Given the description of an element on the screen output the (x, y) to click on. 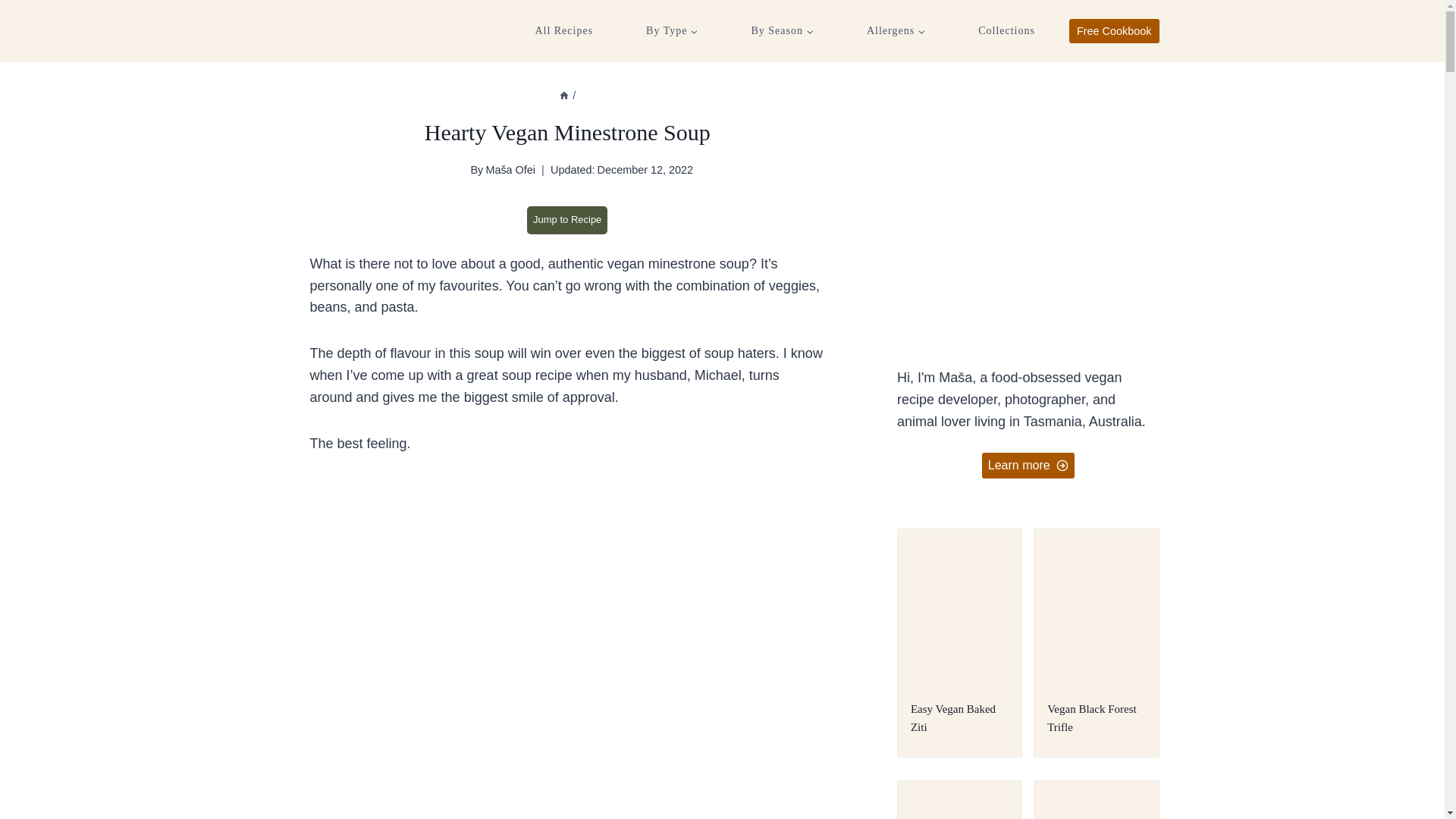
Collections (1006, 31)
Jump to Recipe (567, 220)
Jump to Recipe (567, 220)
Free Cookbook (1113, 30)
By Season (781, 31)
By Type (671, 31)
All Recipes (564, 31)
Allergens (896, 31)
